Given the description of an element on the screen output the (x, y) to click on. 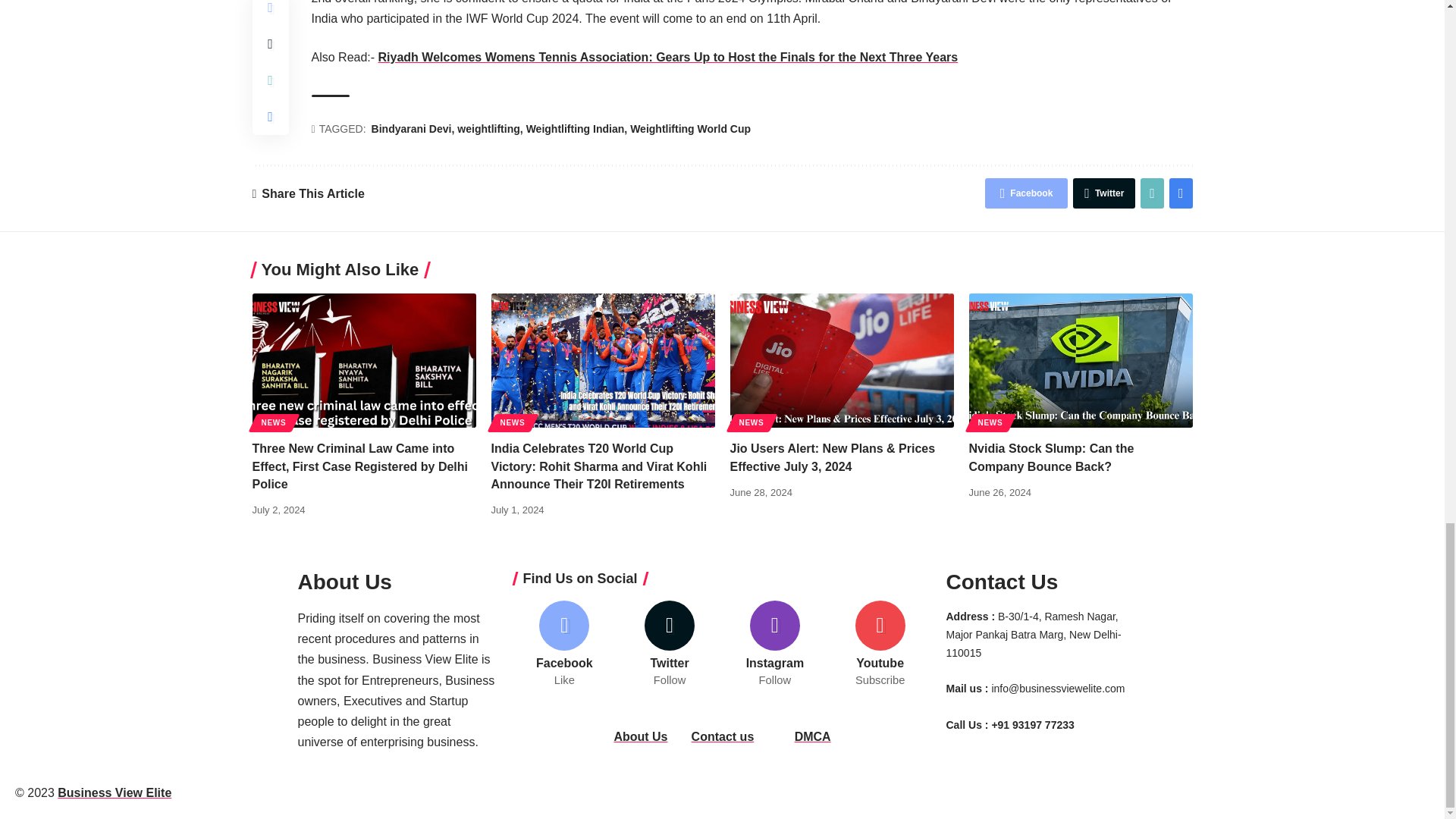
Nvidia Stock Slump: Can the Company Bounce Back? (1080, 360)
